Given the description of an element on the screen output the (x, y) to click on. 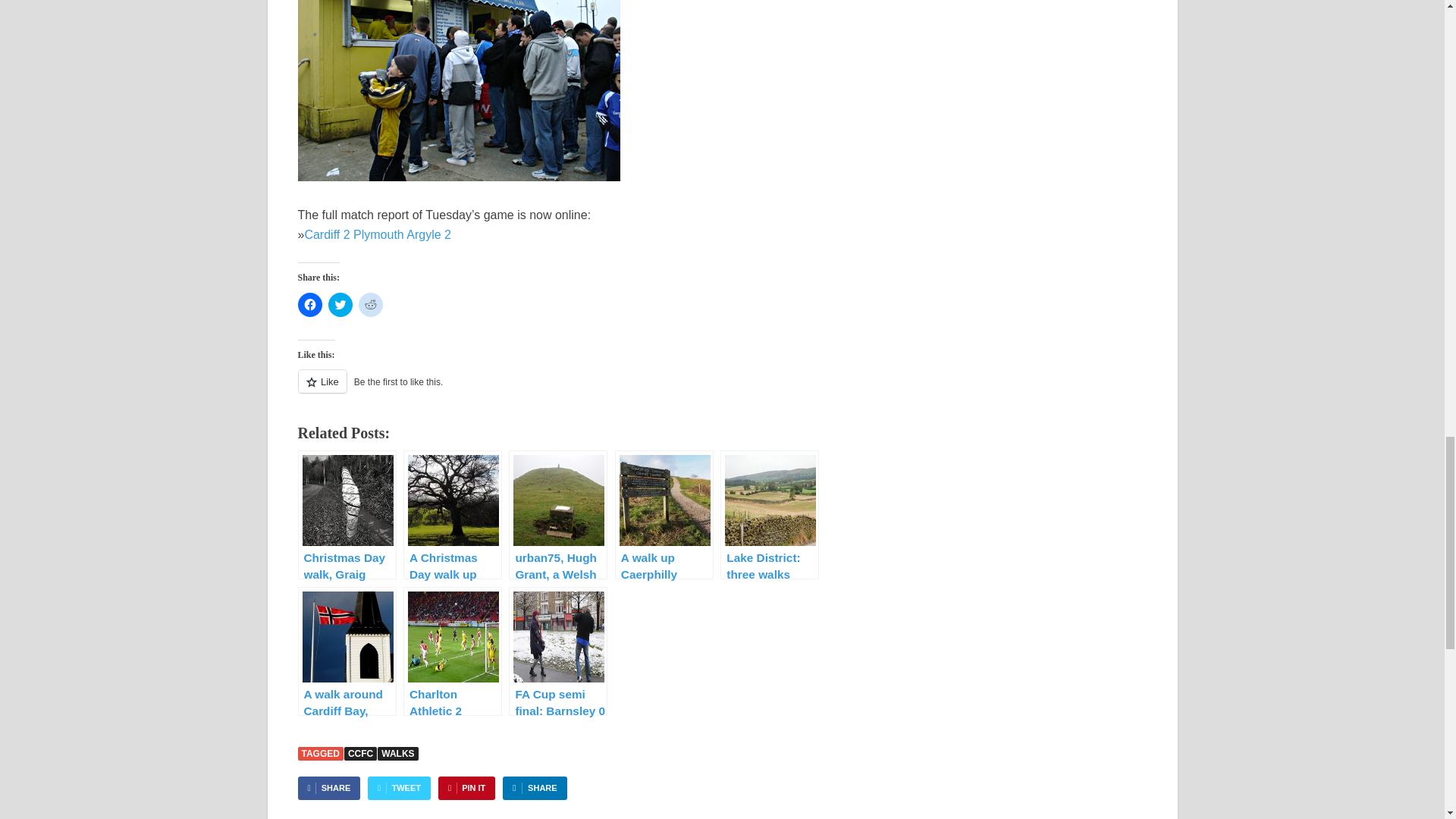
Click to share on Facebook (309, 304)
Click to share on Twitter (339, 304)
Like or Reblog (575, 390)
Cardiff 2 Plymouth Argyle 2 (377, 234)
Click to share on Reddit (369, 304)
